Given the description of an element on the screen output the (x, y) to click on. 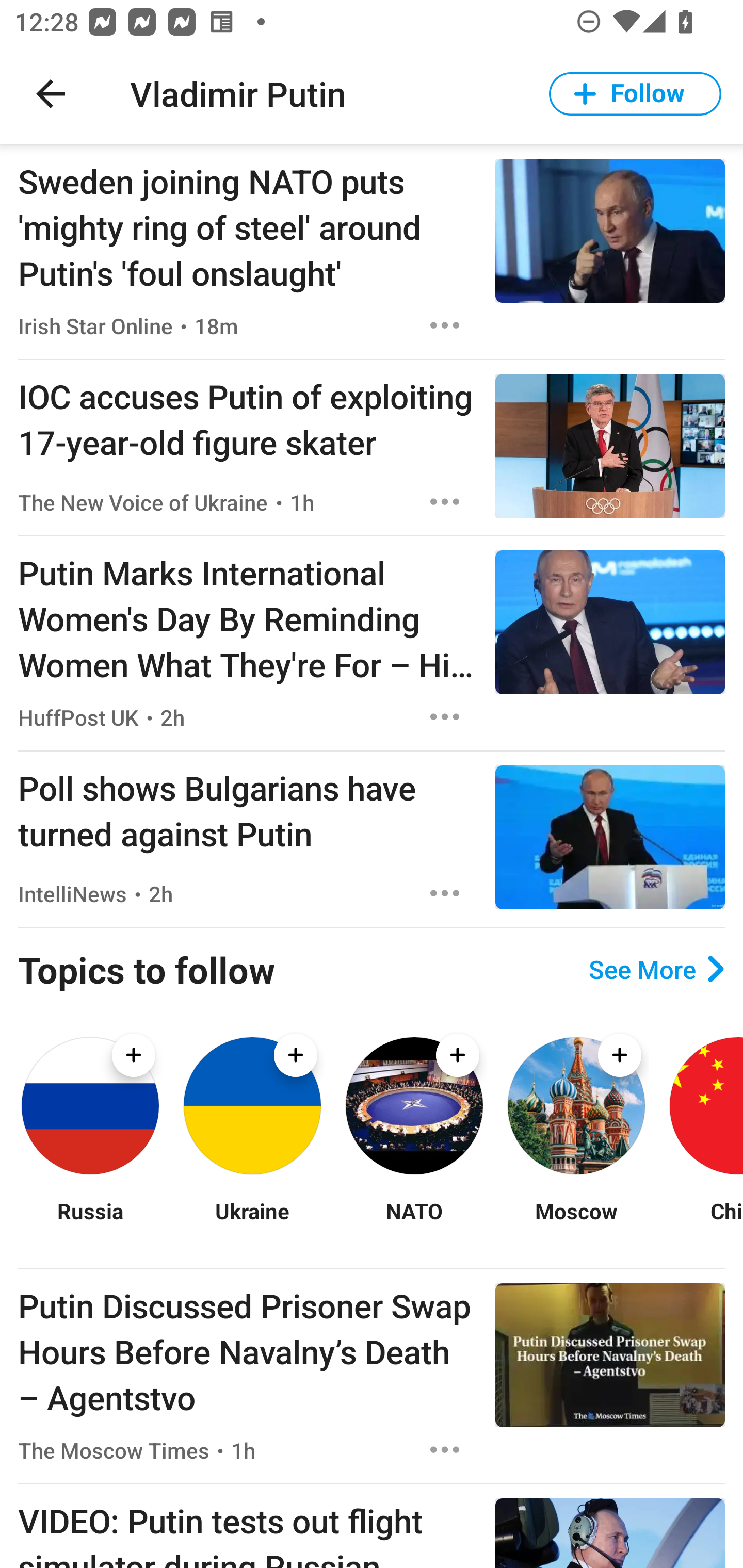
Navigate up (50, 93)
Follow (635, 94)
Options (444, 325)
Options (444, 501)
Options (444, 716)
Options (444, 893)
See More (656, 968)
Russia (89, 1223)
Ukraine (251, 1223)
NATO (413, 1223)
Moscow (575, 1223)
Options (444, 1449)
